Given the description of an element on the screen output the (x, y) to click on. 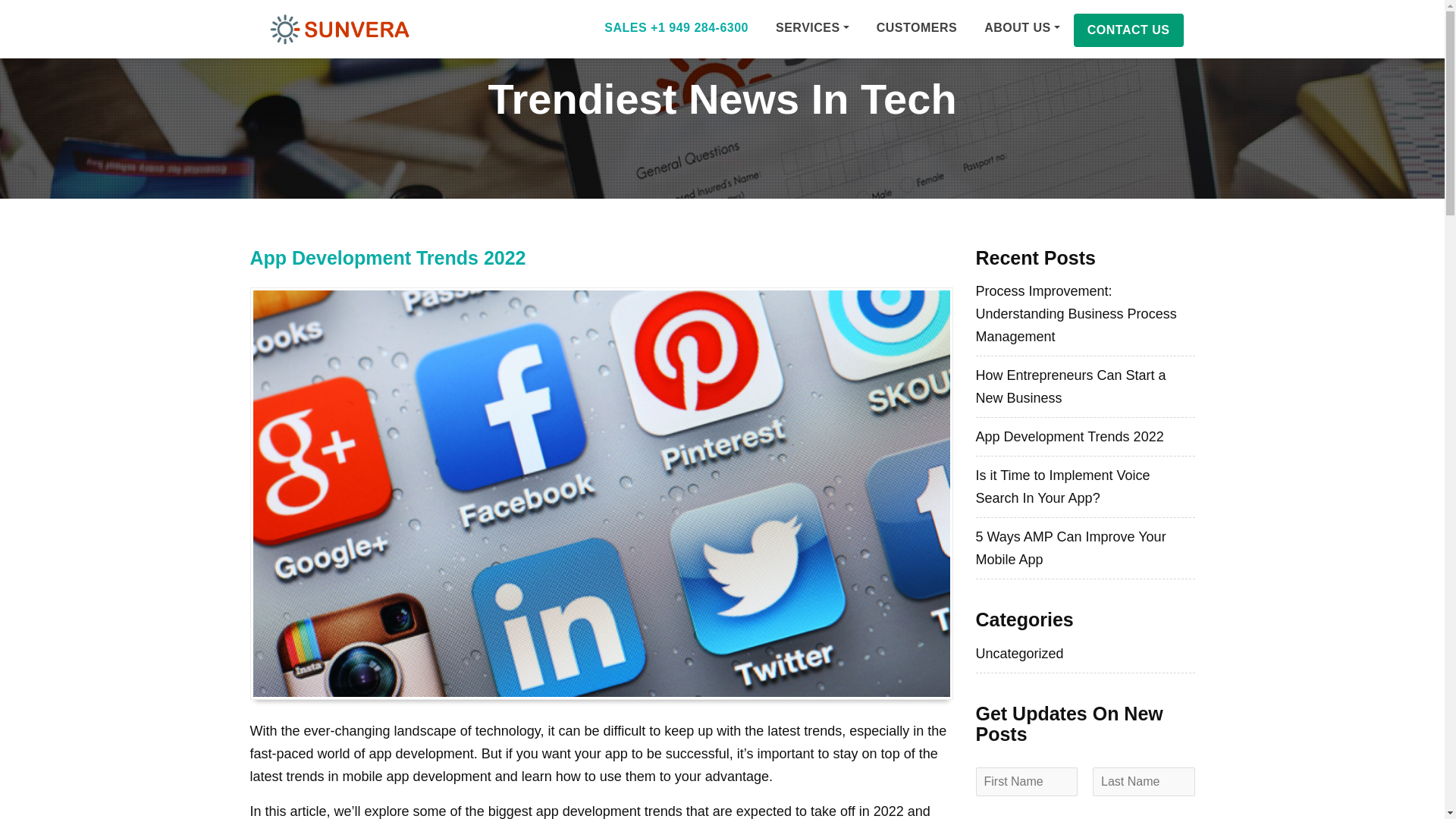
SERVICES (812, 27)
